Given the description of an element on the screen output the (x, y) to click on. 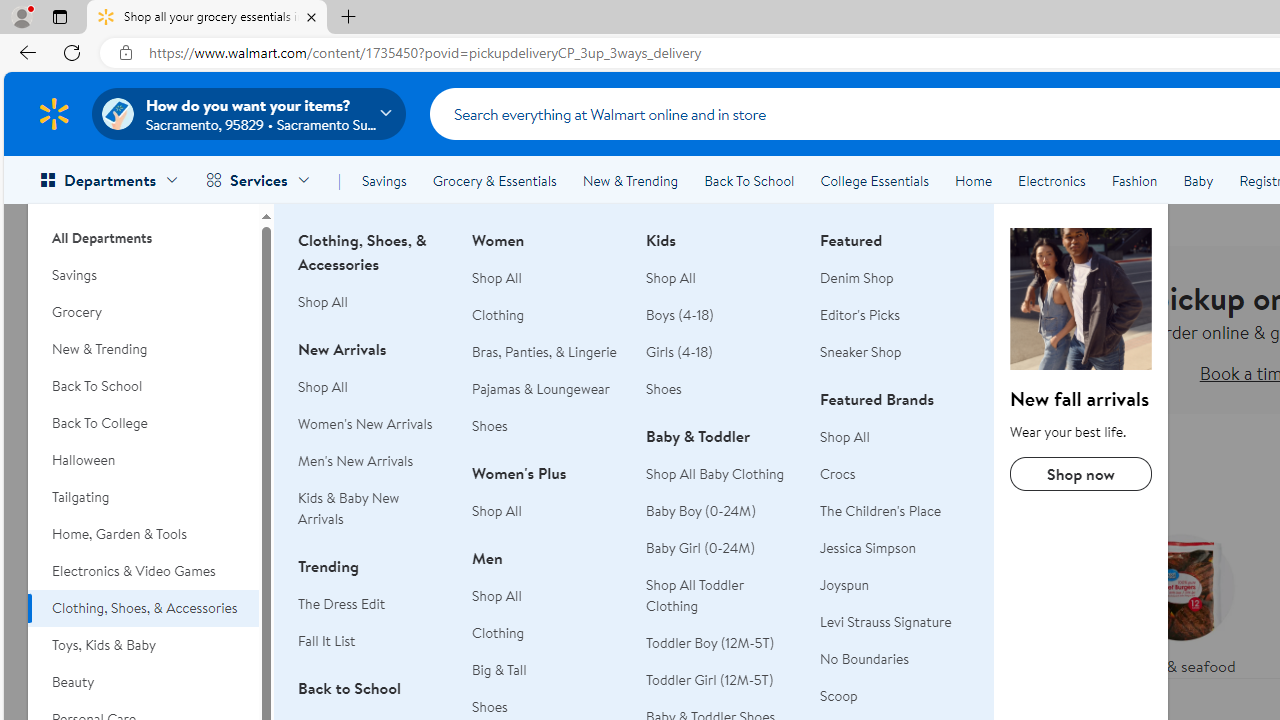
Crocs (838, 473)
Bras, Panties, & Lingerie (544, 352)
Pantry & Snacks (792, 650)
Grocery & Essentials (493, 180)
Toddler Girl (12M-5T) (721, 680)
Kids & Baby New Arrivals (348, 508)
Women's New Arrivals (365, 423)
Back To College (143, 423)
Pajamas & Loungewear (547, 389)
Denim Shop (895, 277)
Baby Boy (0-24M) (701, 511)
TrendingThe Dress EditFall It List (373, 614)
Beauty (143, 682)
Toys, Kids & Baby (143, 645)
